Given the description of an element on the screen output the (x, y) to click on. 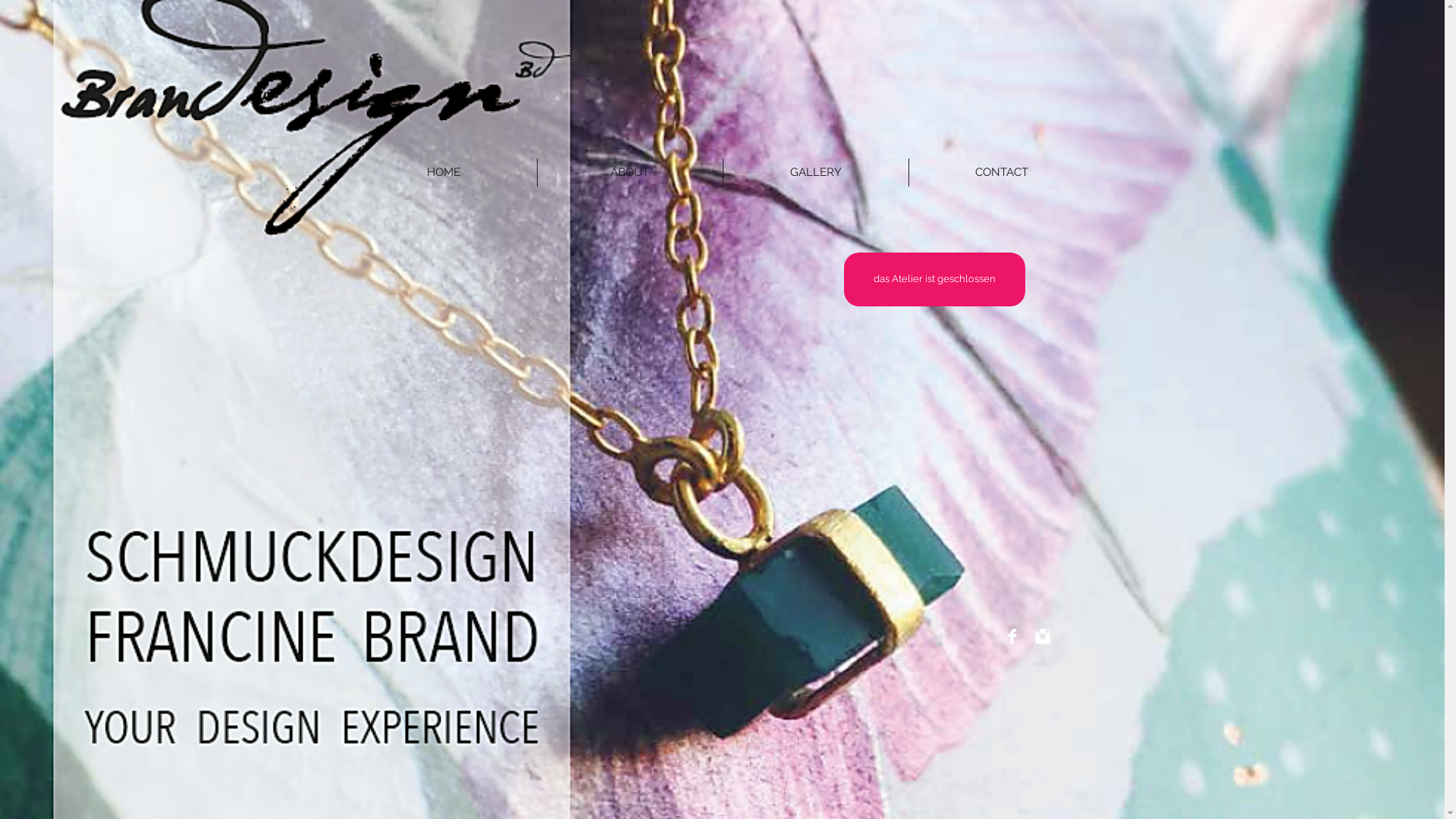
CONTACT Element type: text (1000, 172)
HOME Element type: text (443, 172)
ABOUT Element type: text (628, 172)
GALLERY Element type: text (815, 172)
